Given the description of an element on the screen output the (x, y) to click on. 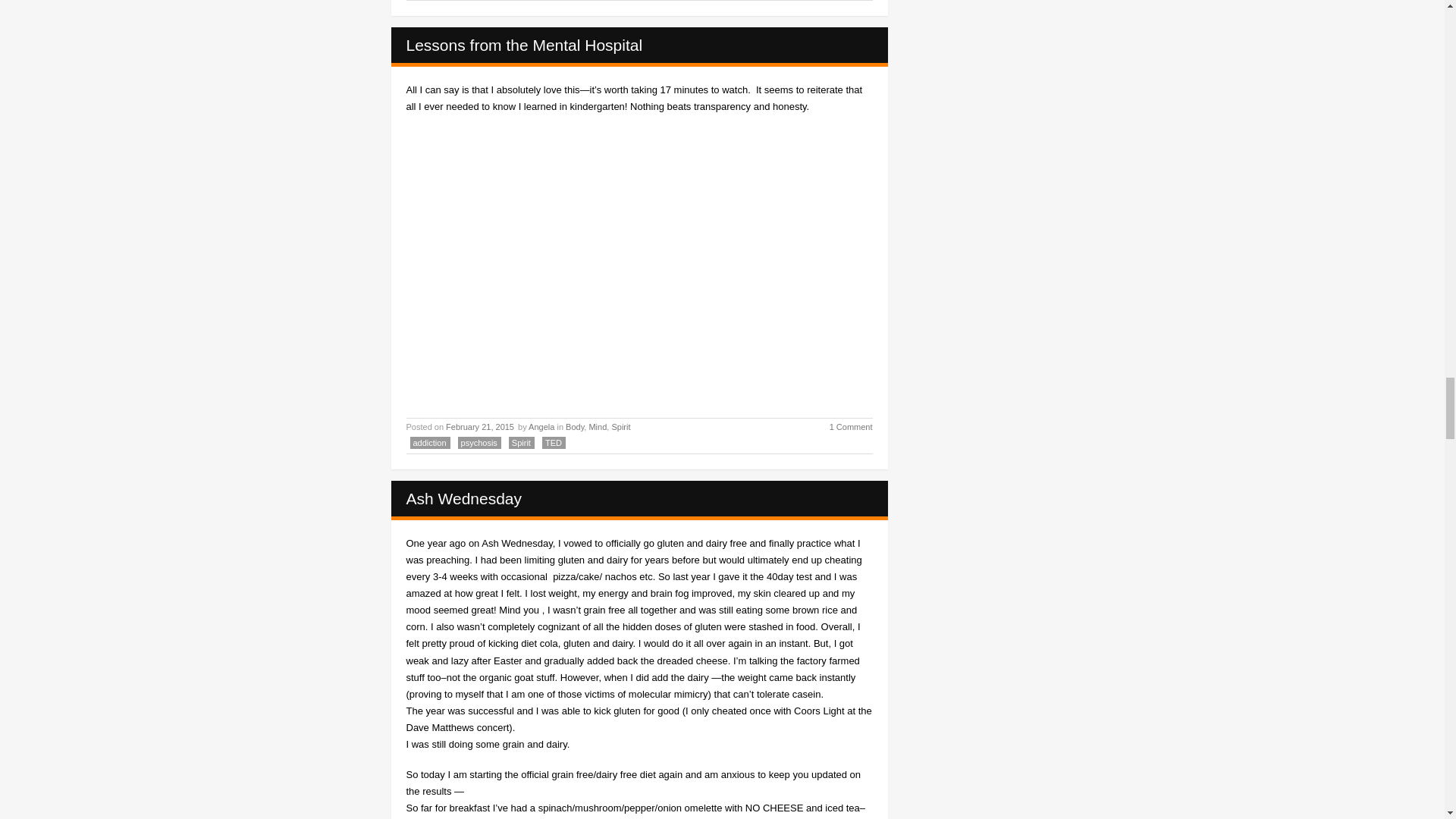
Read Lessons from the Mental Hospital (524, 45)
